Given the description of an element on the screen output the (x, y) to click on. 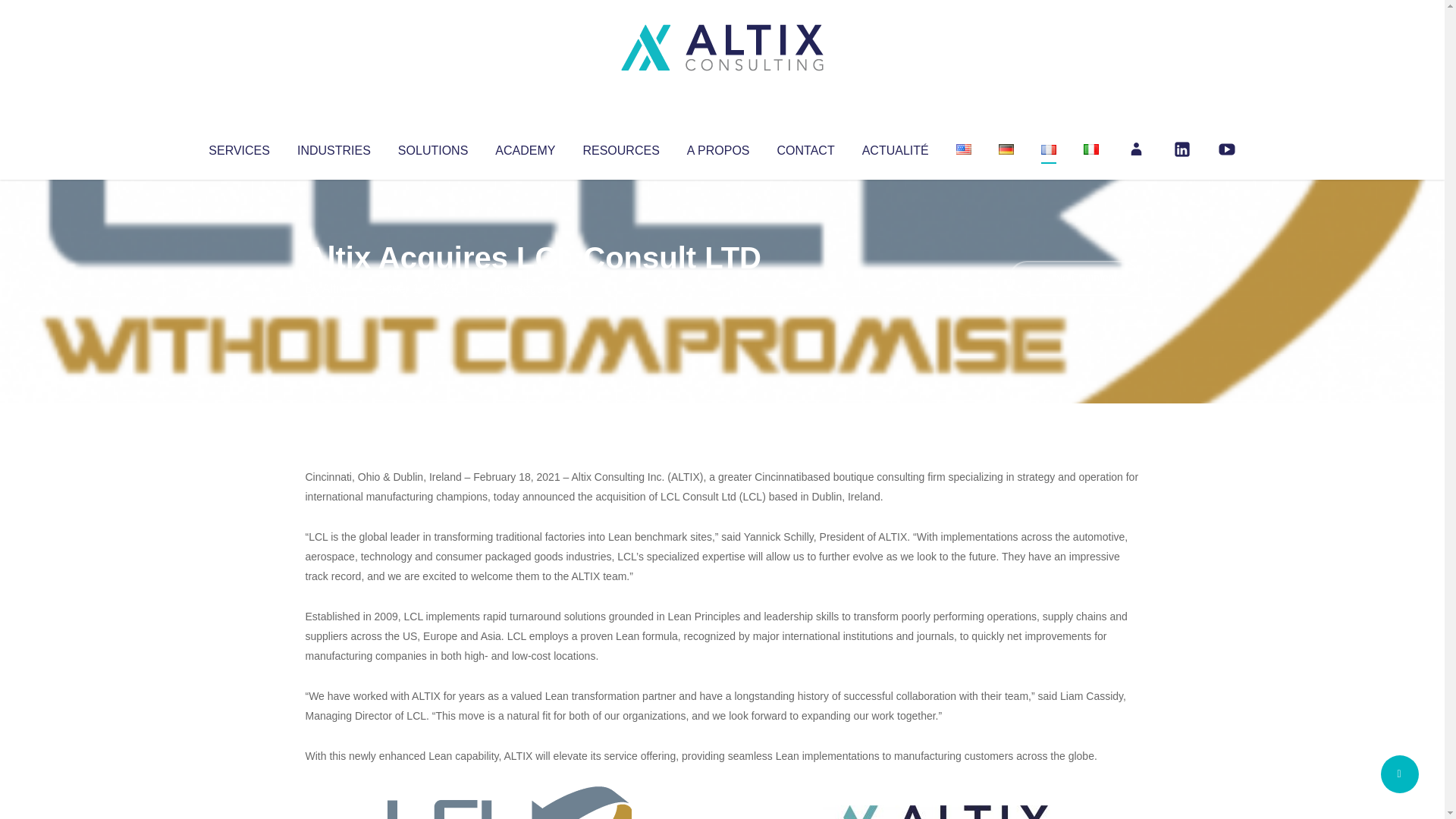
SERVICES (238, 146)
ACADEMY (524, 146)
A PROPOS (718, 146)
Uncategorized (530, 287)
INDUSTRIES (334, 146)
Articles par Altix (333, 287)
RESOURCES (620, 146)
SOLUTIONS (432, 146)
No Comments (1073, 278)
Altix (333, 287)
